Given the description of an element on the screen output the (x, y) to click on. 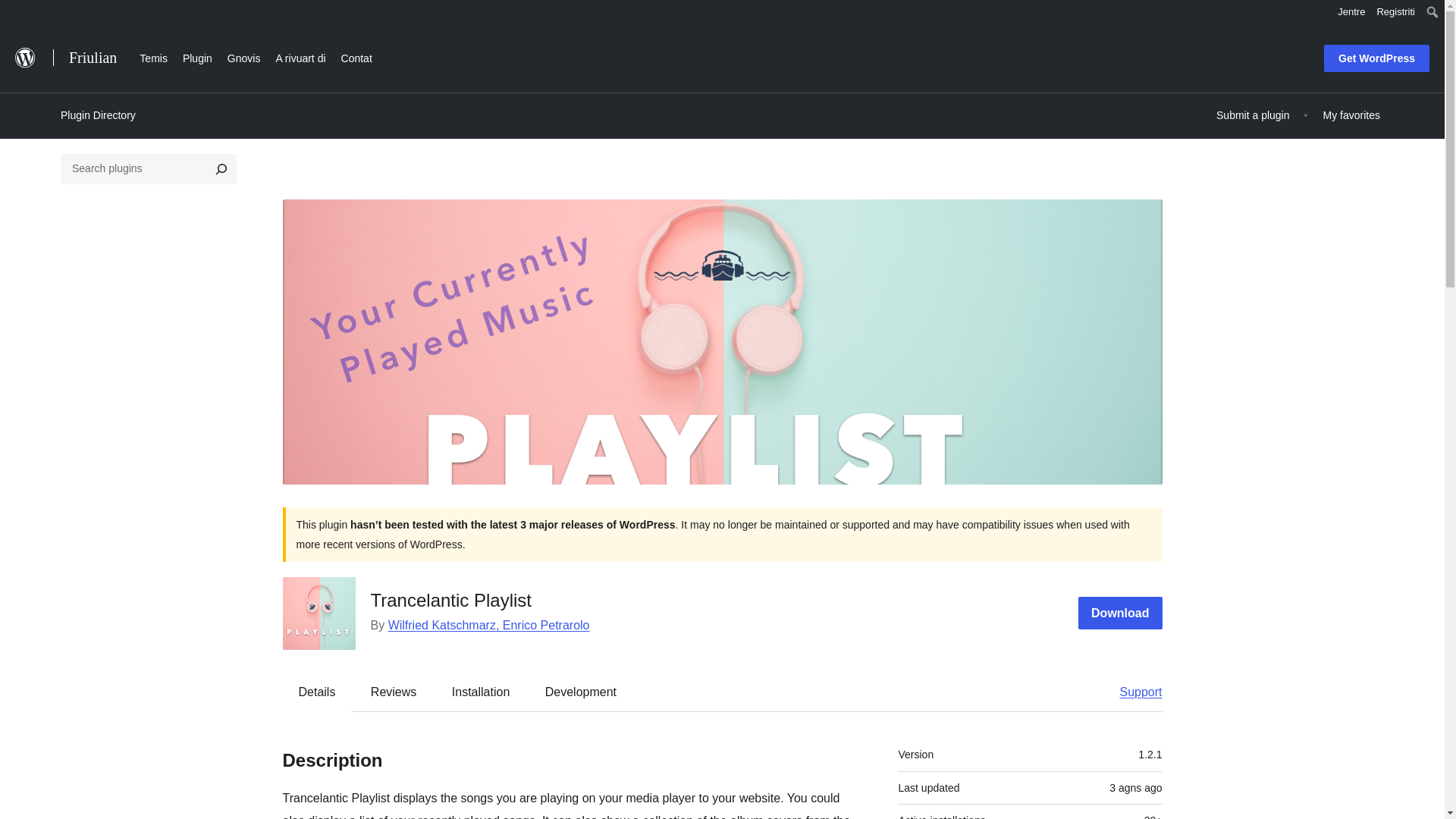
Download (1119, 613)
Wilfried Katschmarz, Enrico Petrarolo (488, 625)
Support (1132, 692)
Reviews (392, 692)
Ricercje (19, 13)
Get WordPress (1376, 58)
Plugin Directory (97, 115)
Jentre (1351, 12)
Submit a plugin (1253, 115)
Installation (480, 692)
Details (316, 692)
Development (580, 692)
My favorites (1351, 115)
A rivuart di (300, 56)
Registriti (1396, 12)
